Given the description of an element on the screen output the (x, y) to click on. 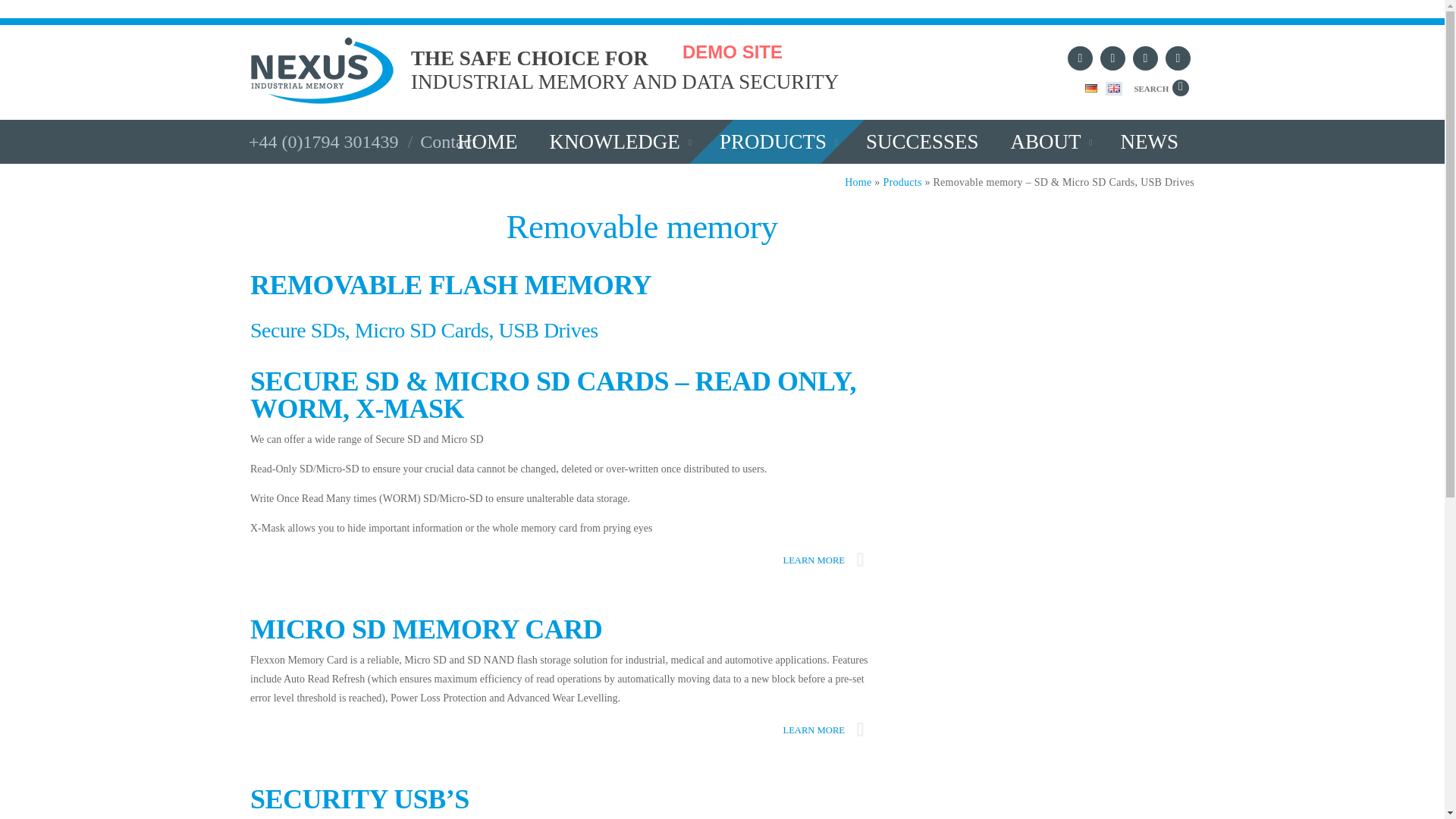
SEARCH (1159, 88)
ABOUT (473, 78)
SUCCESSES (1049, 141)
PRODUCTS (923, 141)
NEWS (776, 141)
HOME (1149, 141)
KNOWLEDGE (487, 141)
Contact (617, 141)
